Given the description of an element on the screen output the (x, y) to click on. 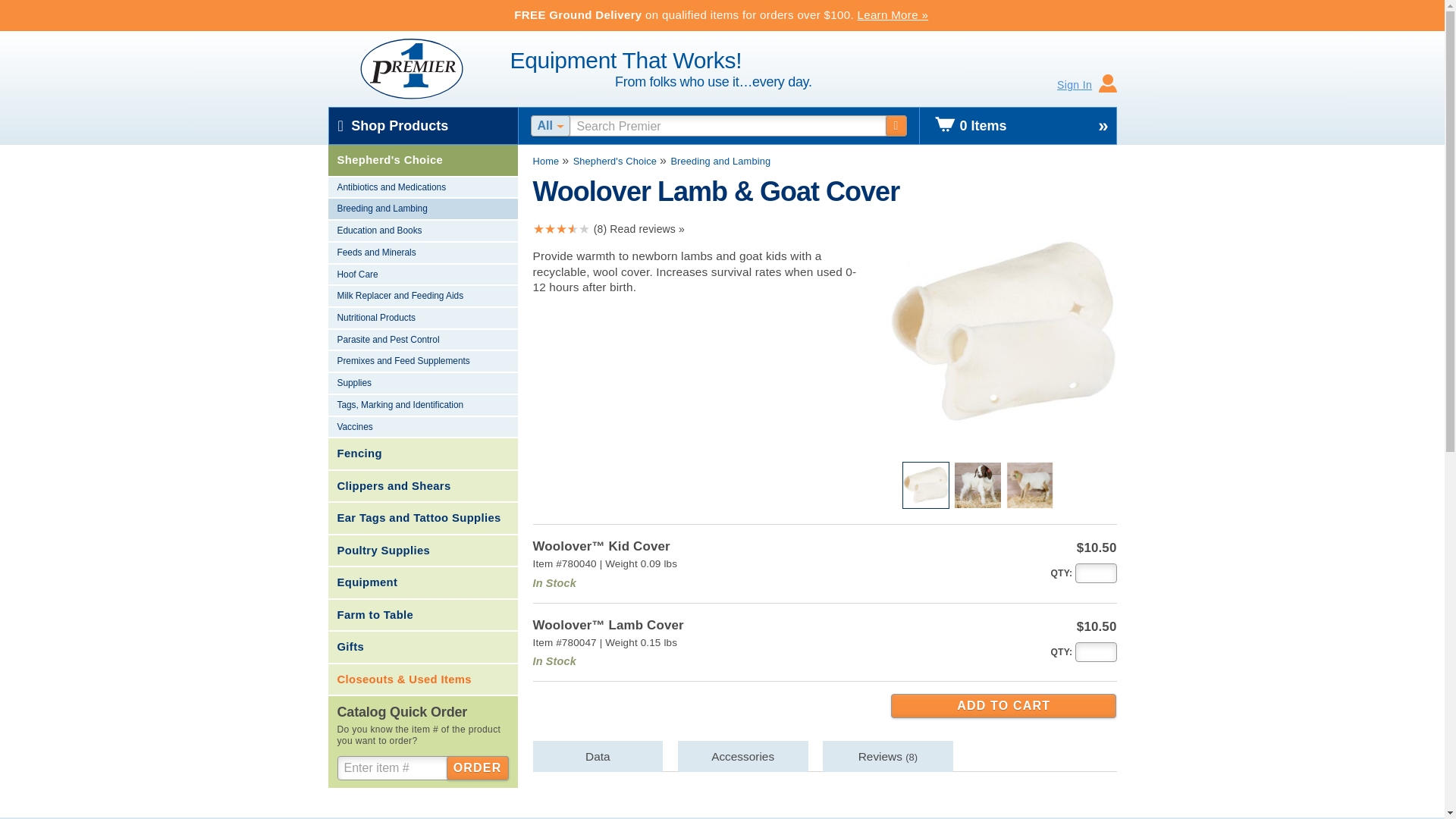
Breeding and Lambing (421, 209)
ORDER (477, 767)
Education and Books (421, 231)
Home (545, 161)
Click here to search. (896, 125)
Equipment (421, 582)
Shepherd's Choice (614, 161)
Gifts (421, 647)
Farm to Table (421, 615)
Fencing (421, 454)
